Given the description of an element on the screen output the (x, y) to click on. 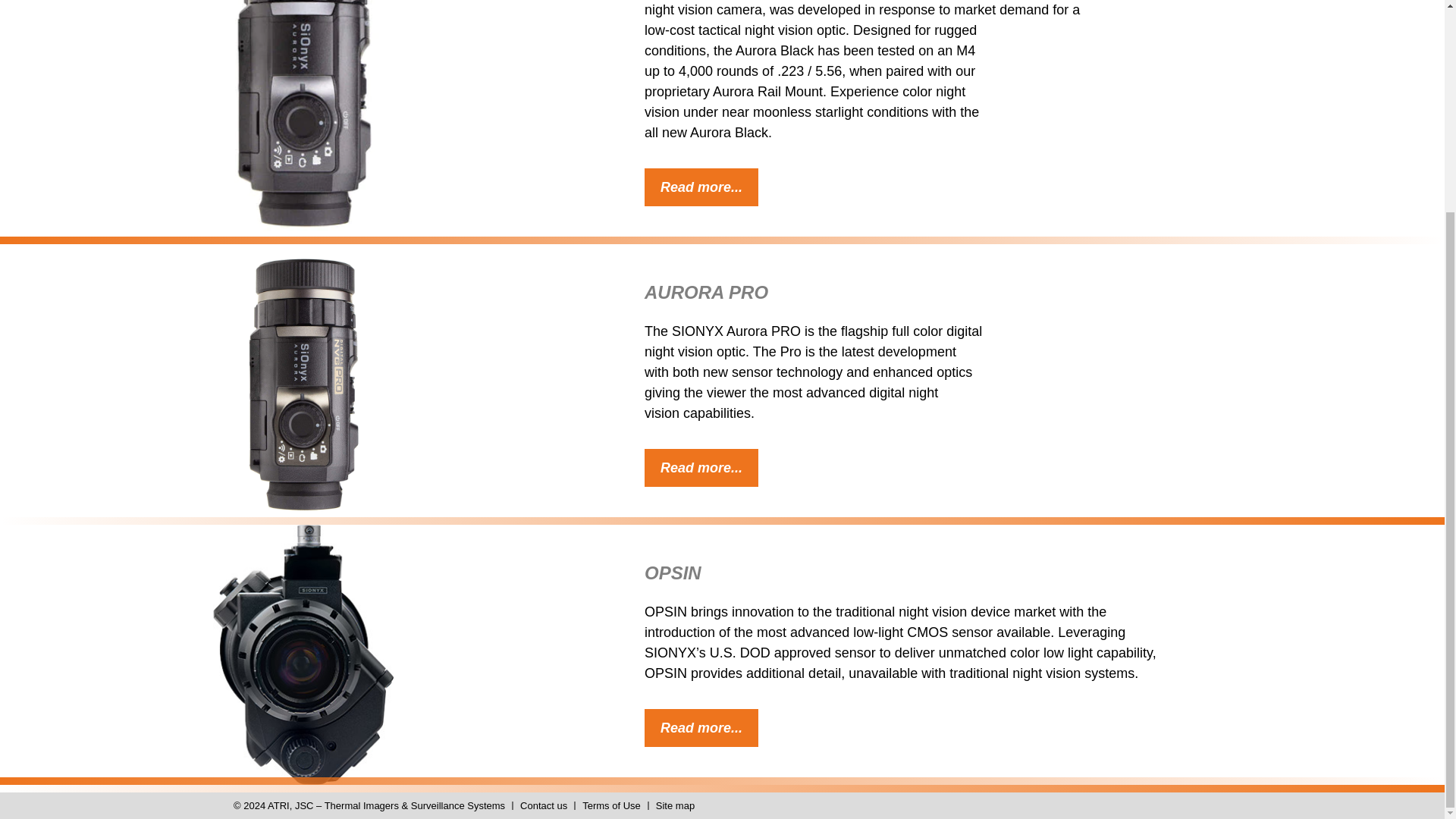
Read more... (701, 727)
Read more... (701, 467)
Read more... (701, 187)
